Given the description of an element on the screen output the (x, y) to click on. 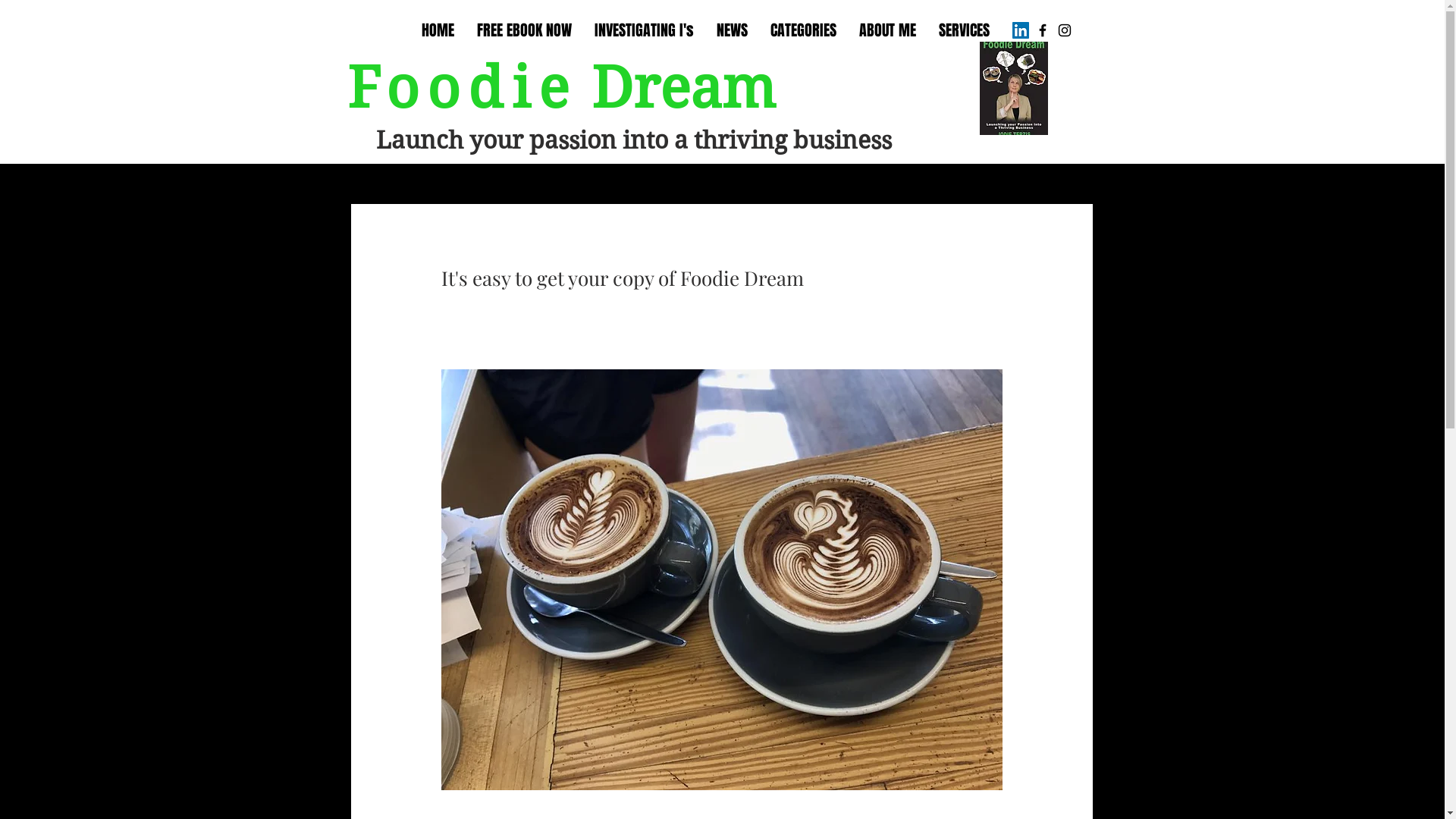
NEWS Element type: text (732, 30)
Foodie Element type: text (462, 87)
INVESTIGATING I's Element type: text (643, 30)
SERVICES Element type: text (963, 30)
HOME Element type: text (436, 30)
ABOUT ME Element type: text (887, 30)
FREE EBOOK NOW Element type: text (524, 30)
